Given the description of an element on the screen output the (x, y) to click on. 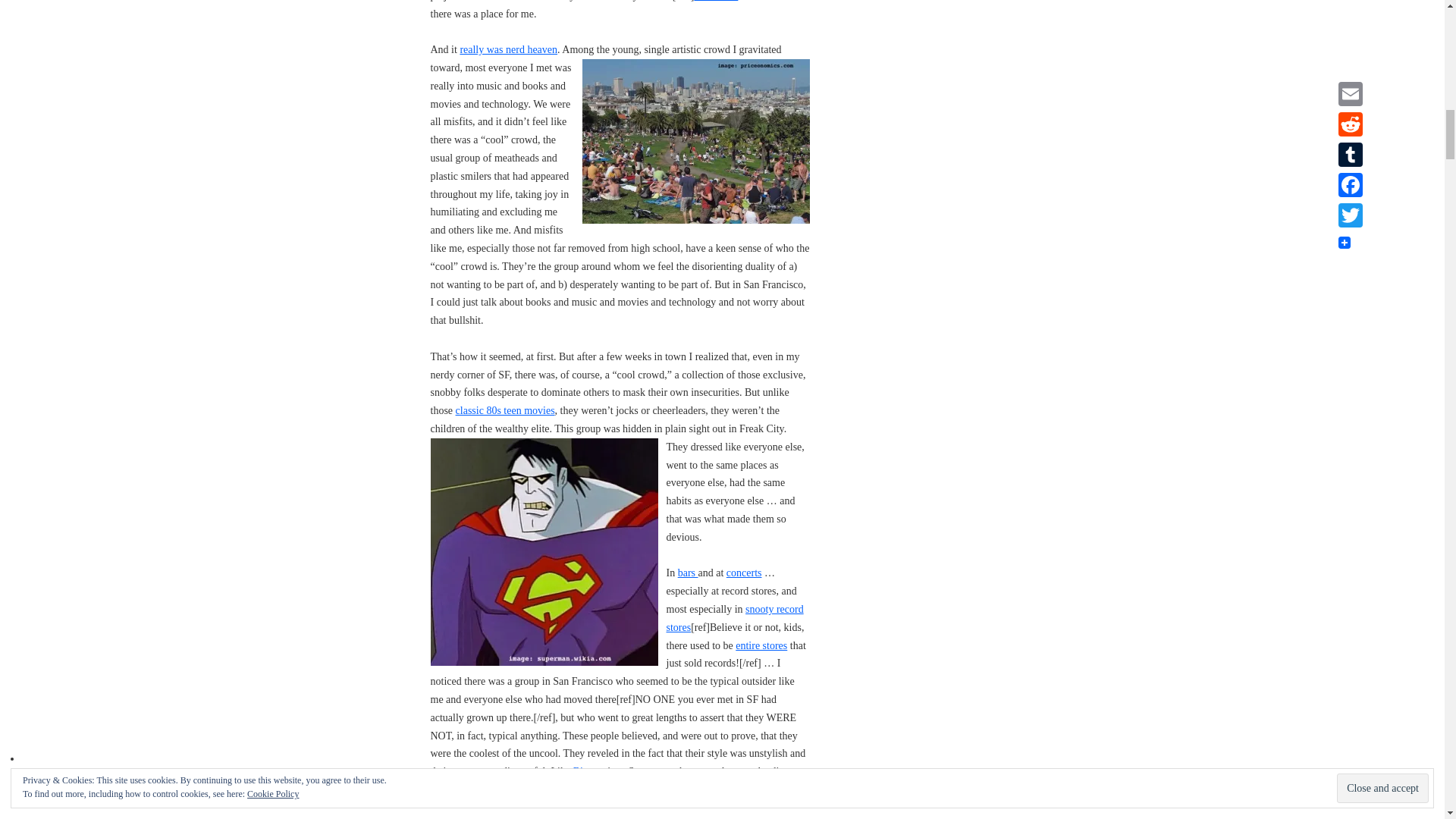
in the 70s (716, 0)
classic 80s teen movies (504, 410)
really was nerd heaven (508, 49)
